Given the description of an element on the screen output the (x, y) to click on. 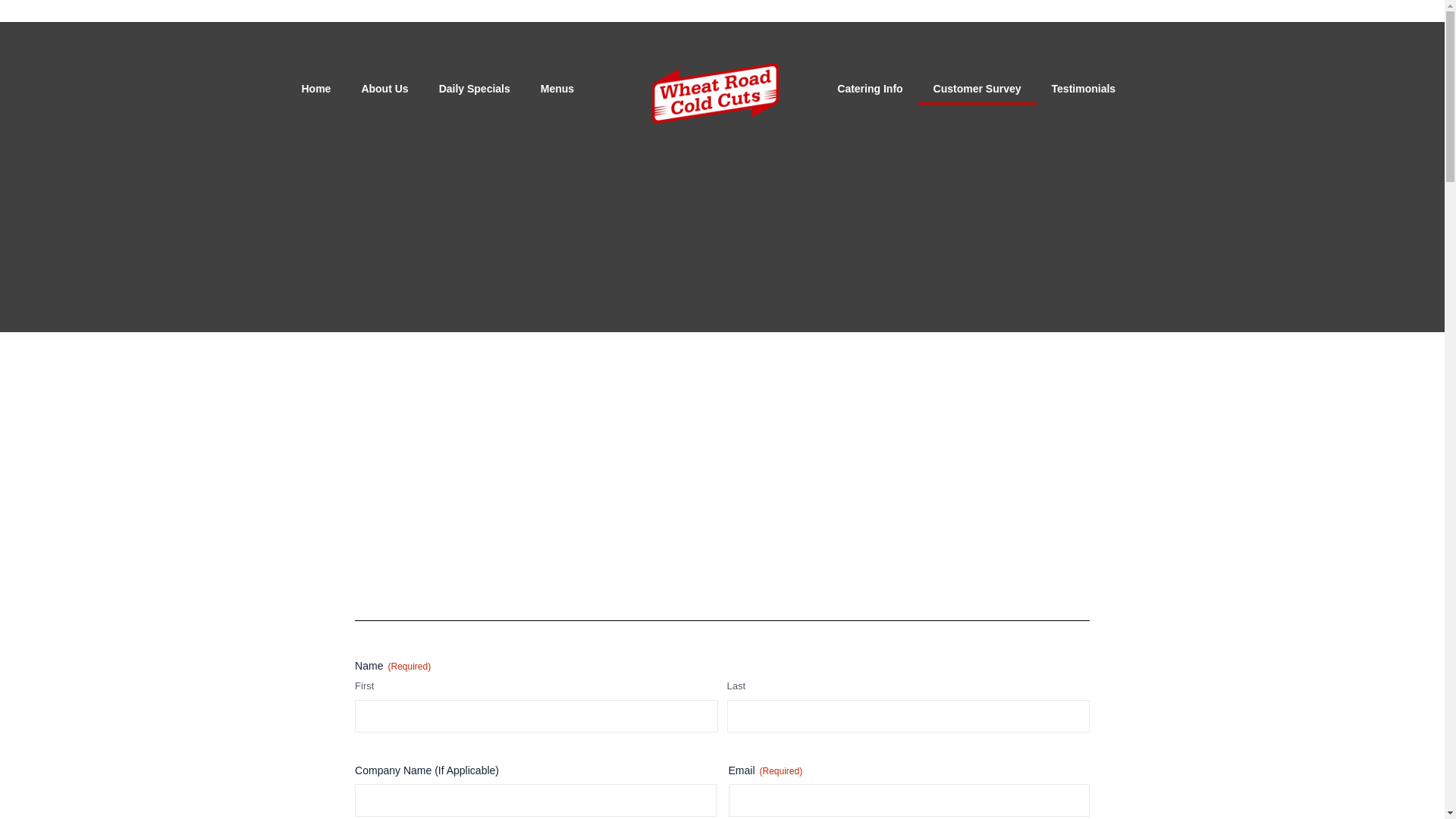
About Us (384, 88)
Customer Survey (977, 88)
Home (316, 88)
Daily Specials (474, 88)
Testimonials (1083, 88)
Menus (557, 88)
Catering Info (869, 88)
